Given the description of an element on the screen output the (x, y) to click on. 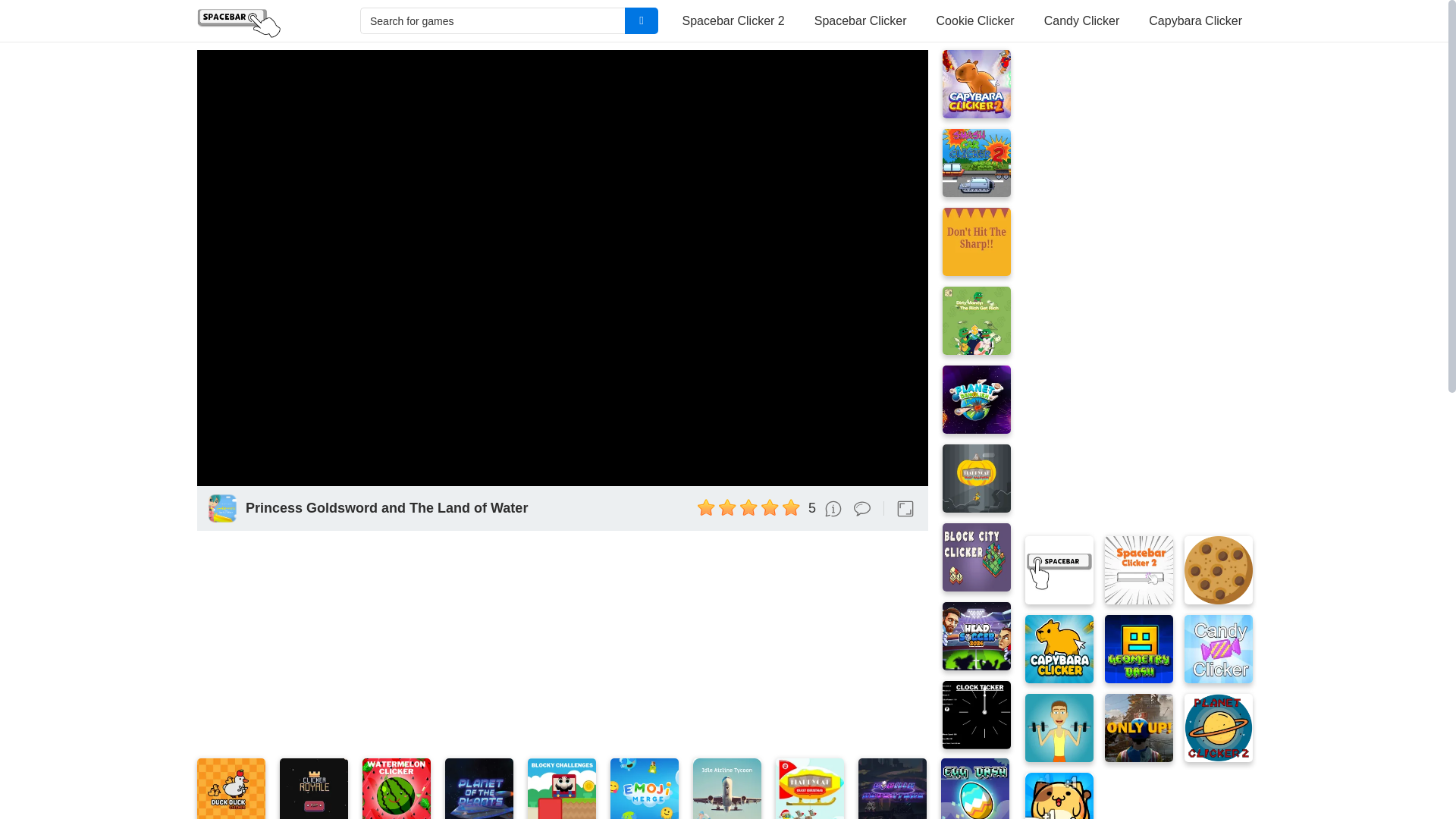
Spacebar Clicker (263, 21)
Clicker Royale (313, 788)
Dirty Money The Rich Get Rich (976, 320)
gorgeous (791, 507)
Candy Clicker (1082, 21)
bad (706, 507)
Smash Car Clicker 2 (976, 162)
Capybara Clicker (1195, 21)
regular (748, 507)
Planet of the Plants (479, 788)
Block City Clicker (976, 557)
Spacebar Clicker 2 (732, 21)
poor (727, 507)
Planet Demolish (976, 399)
